Given the description of an element on the screen output the (x, y) to click on. 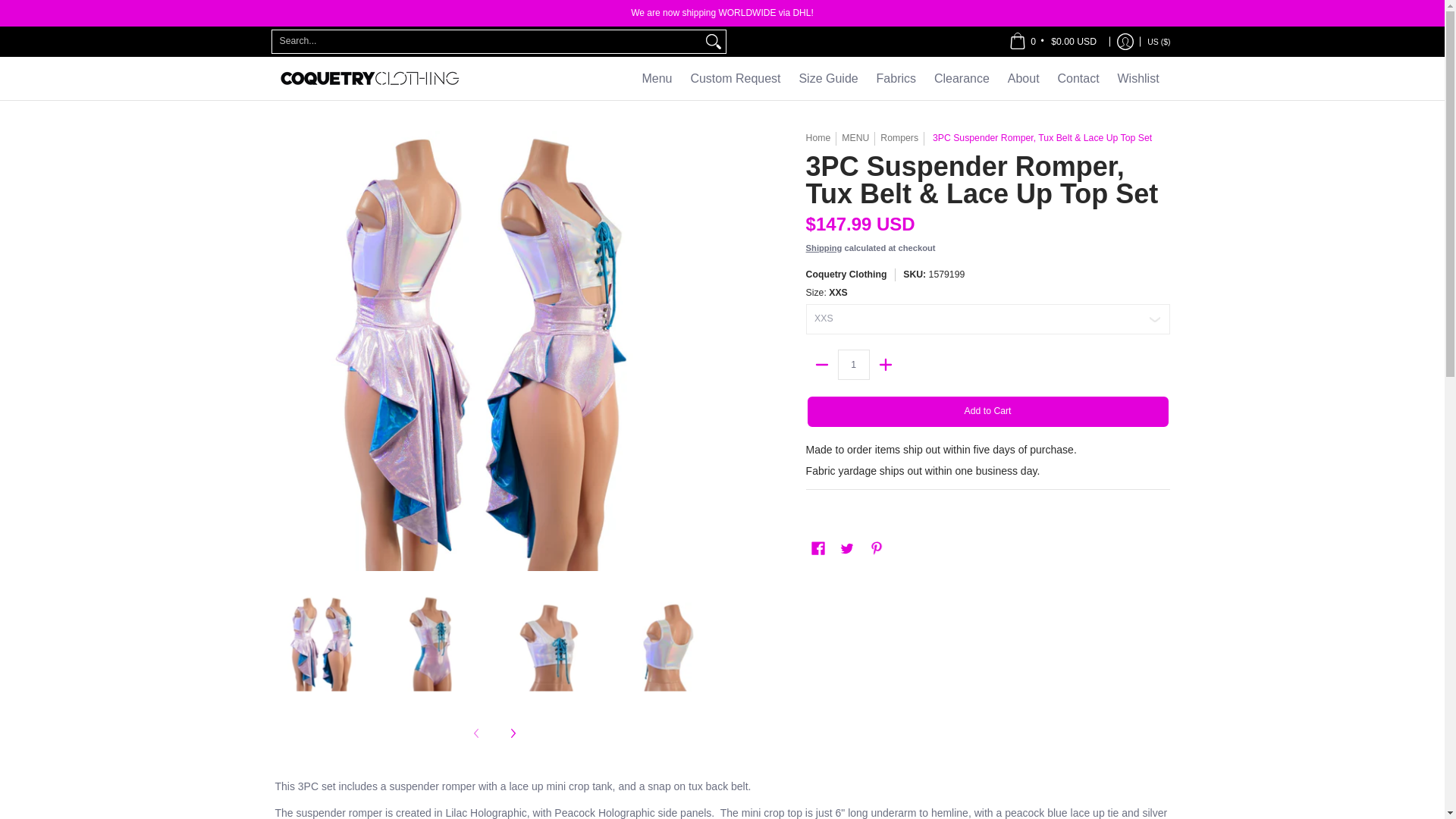
Menu (656, 77)
CV (1076, 28)
BQ (1099, 58)
Cart (1053, 41)
Coquetry Clothing (369, 77)
1 (853, 364)
CA (1067, 3)
Log in (1124, 41)
